Given the description of an element on the screen output the (x, y) to click on. 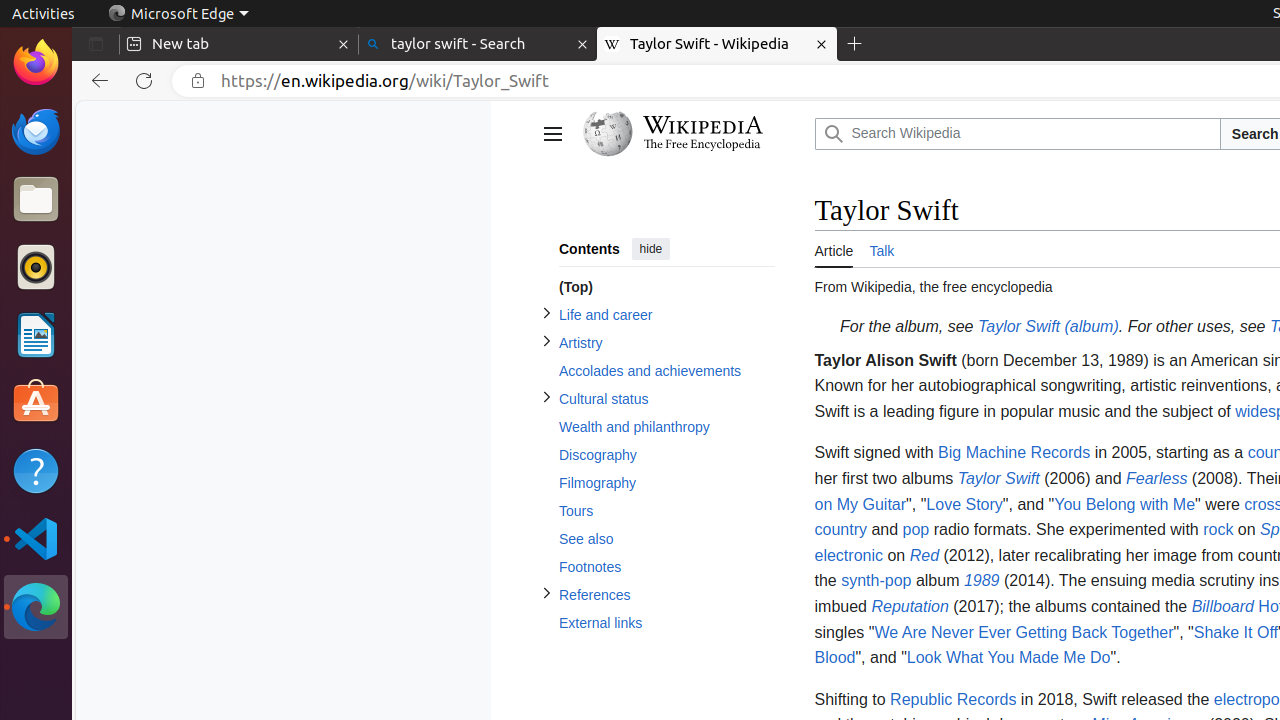
synth-pop Element type: link (876, 581)
Toggle Life and career subsection Element type: push-button (546, 313)
Refresh Element type: push-button (144, 81)
External links Element type: link (666, 623)
You Belong with Me Element type: link (1125, 504)
